Given the description of an element on the screen output the (x, y) to click on. 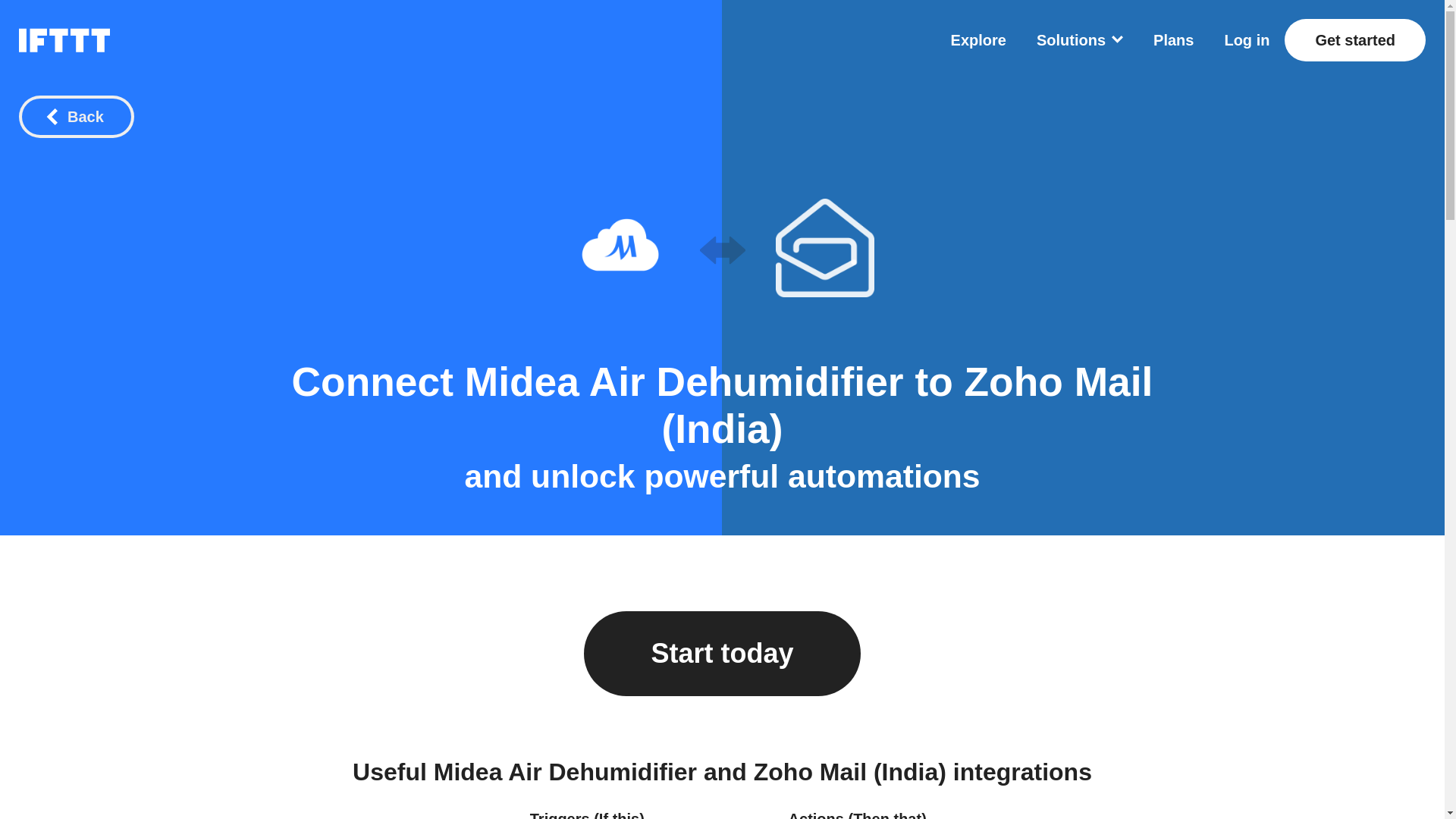
Solutions (1079, 39)
Explore (978, 39)
Midea Air Dehumidifier (684, 381)
Get started (1354, 39)
Plans (1173, 39)
Log in (1246, 39)
Plans (1173, 39)
Explore (978, 39)
Home (64, 40)
Get started (1354, 39)
Start today (721, 653)
Midea Air Dehumidifier (684, 381)
Back (75, 116)
Midea Air Dehumidifier (619, 248)
